Given the description of an element on the screen output the (x, y) to click on. 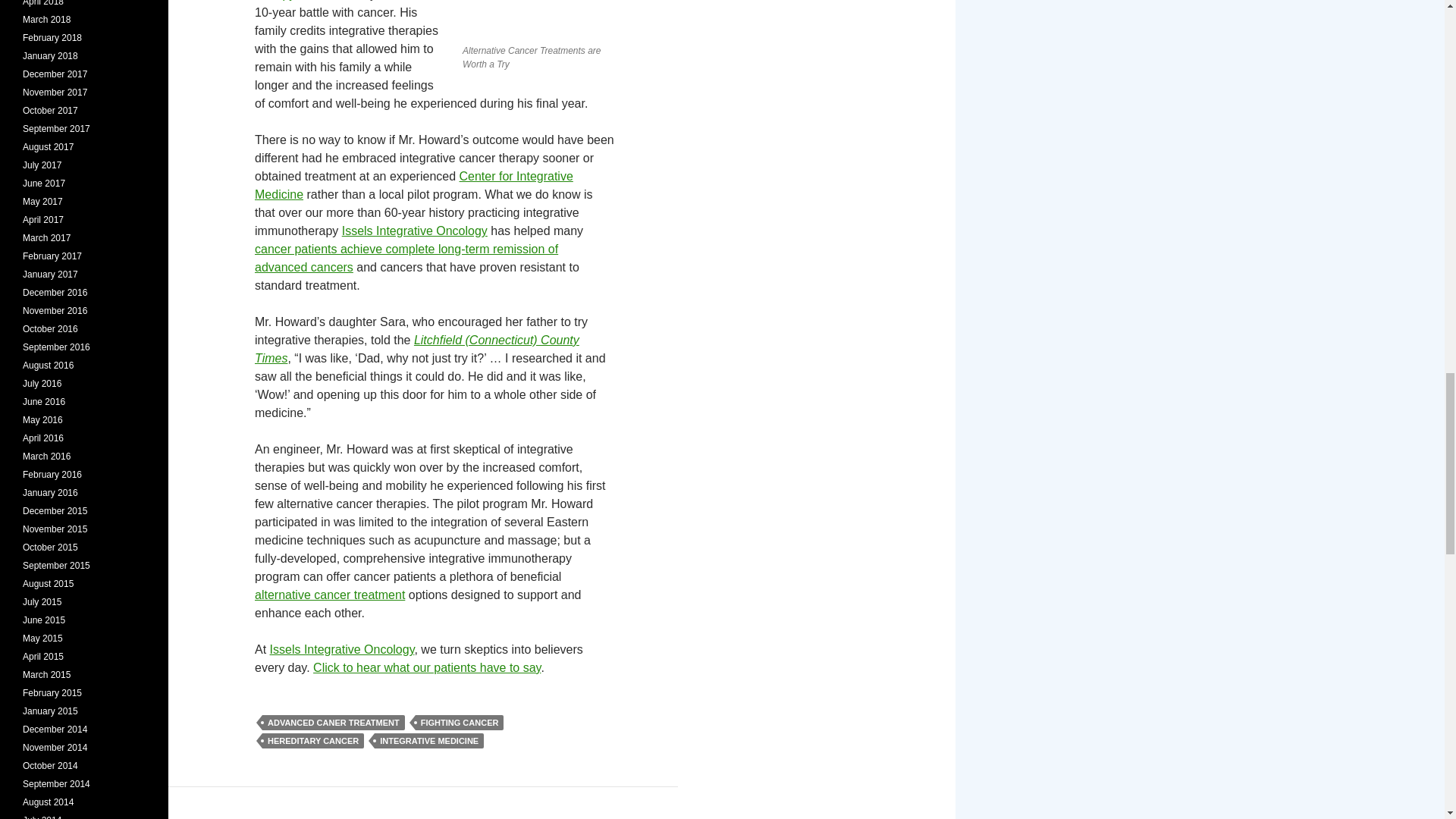
alternative cancer treatment (329, 594)
Click to hear what our patients have to say (426, 667)
Issels Integrative Oncology (414, 230)
HEREDITARY CANCER (313, 740)
Alternative Cancer Treatments are Worth a Try (538, 18)
ADVANCED CANER TREATMENT (333, 722)
FIGHTING CANCER (458, 722)
Issels Integrative Oncology (341, 649)
